Given the description of an element on the screen output the (x, y) to click on. 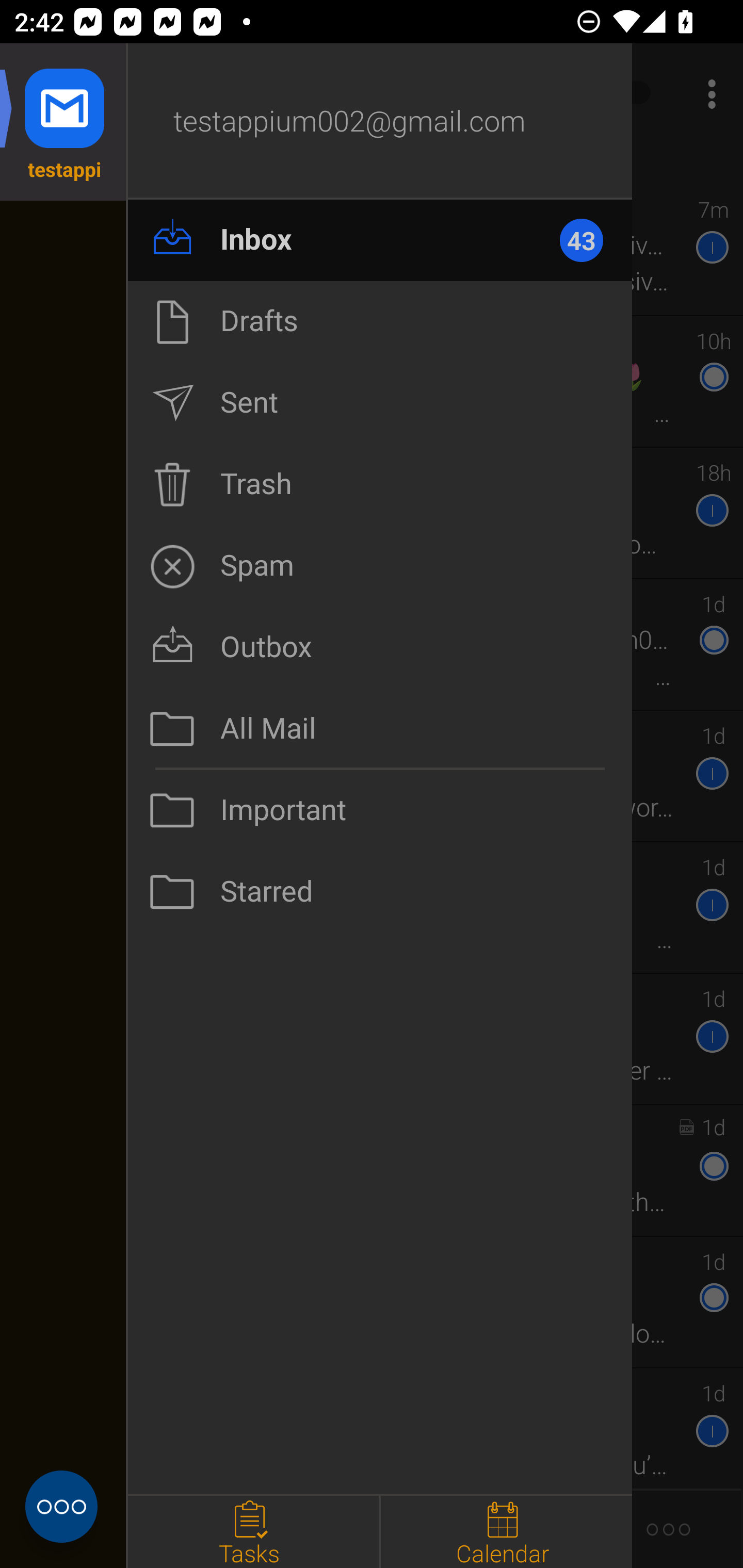
Navigate up (81, 93)
testappium002@gmail.com (379, 121)
More Options (706, 93)
Updated 2:42 PM (371, 164)
Inbox 43 (379, 239)
43 (590, 239)
Drafts (379, 321)
Sent (379, 402)
Trash (379, 484)
Spam (379, 565)
Outbox (379, 647)
All Mail (379, 728)
Important (379, 810)
Starred (379, 891)
Tasks (252, 1531)
Calendar (506, 1531)
